Given the description of an element on the screen output the (x, y) to click on. 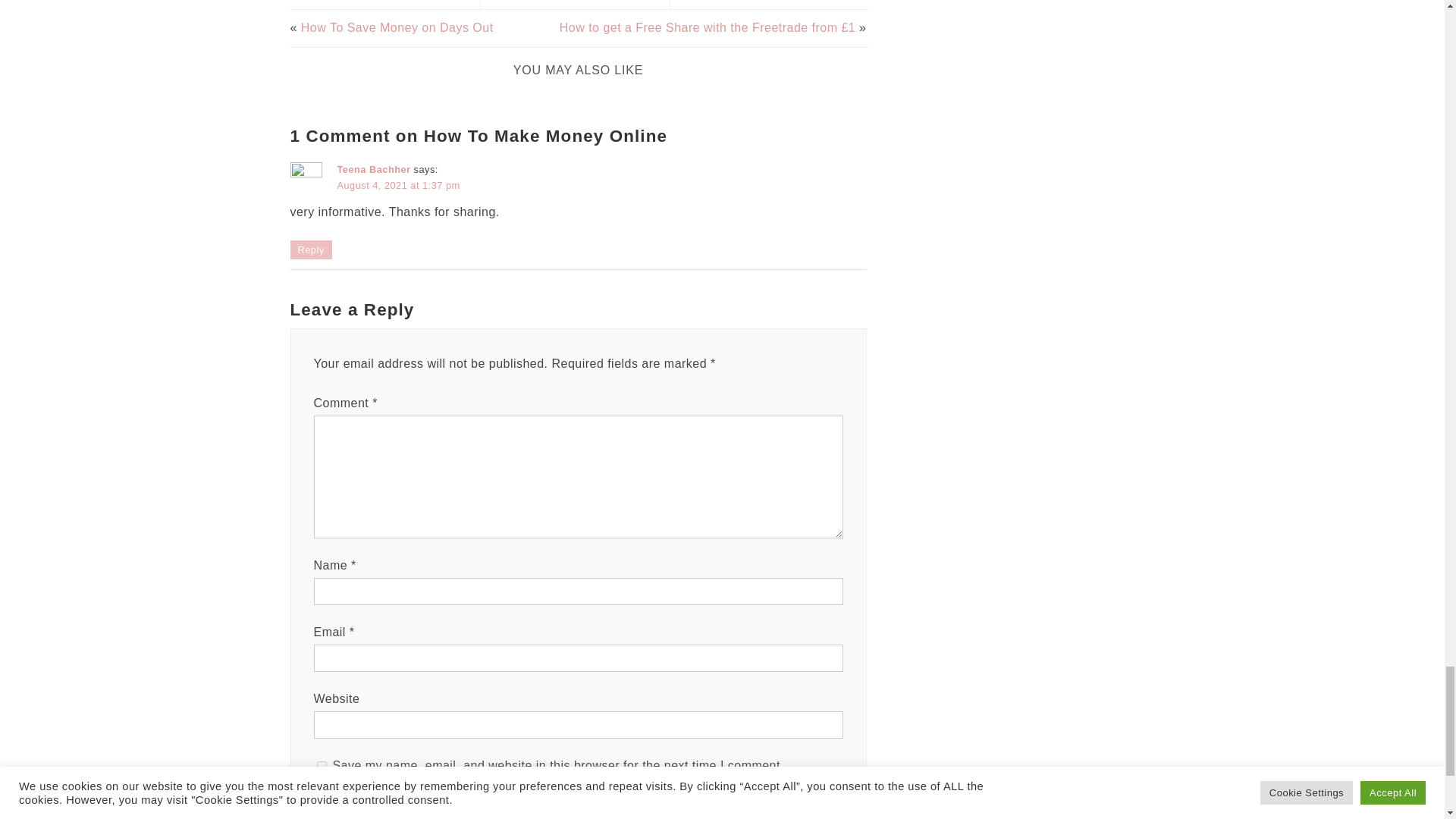
yes (321, 766)
Post Comment (366, 806)
